Given the description of an element on the screen output the (x, y) to click on. 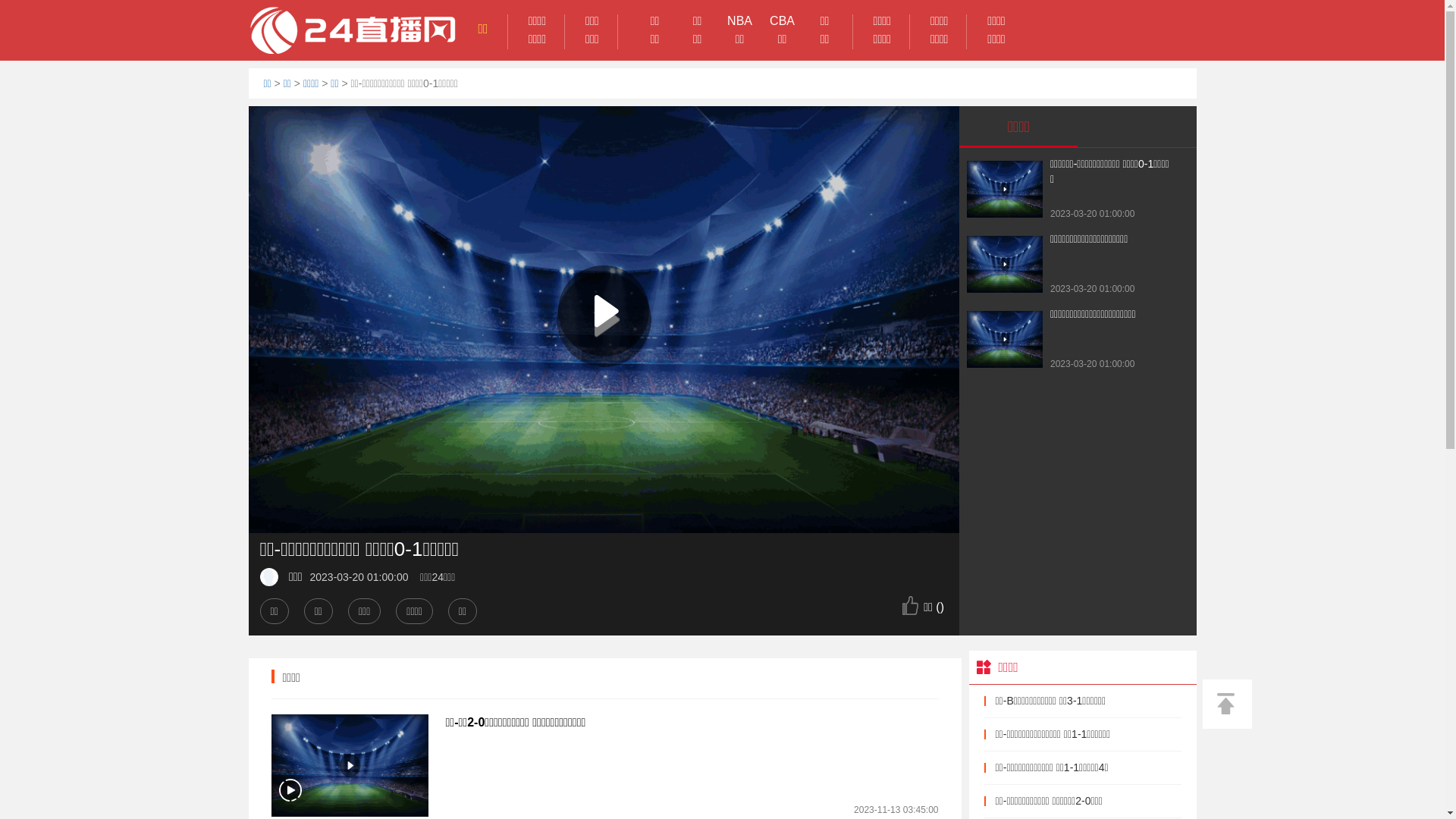
CBA Element type: text (782, 21)
NBA Element type: text (739, 21)
